Given the description of an element on the screen output the (x, y) to click on. 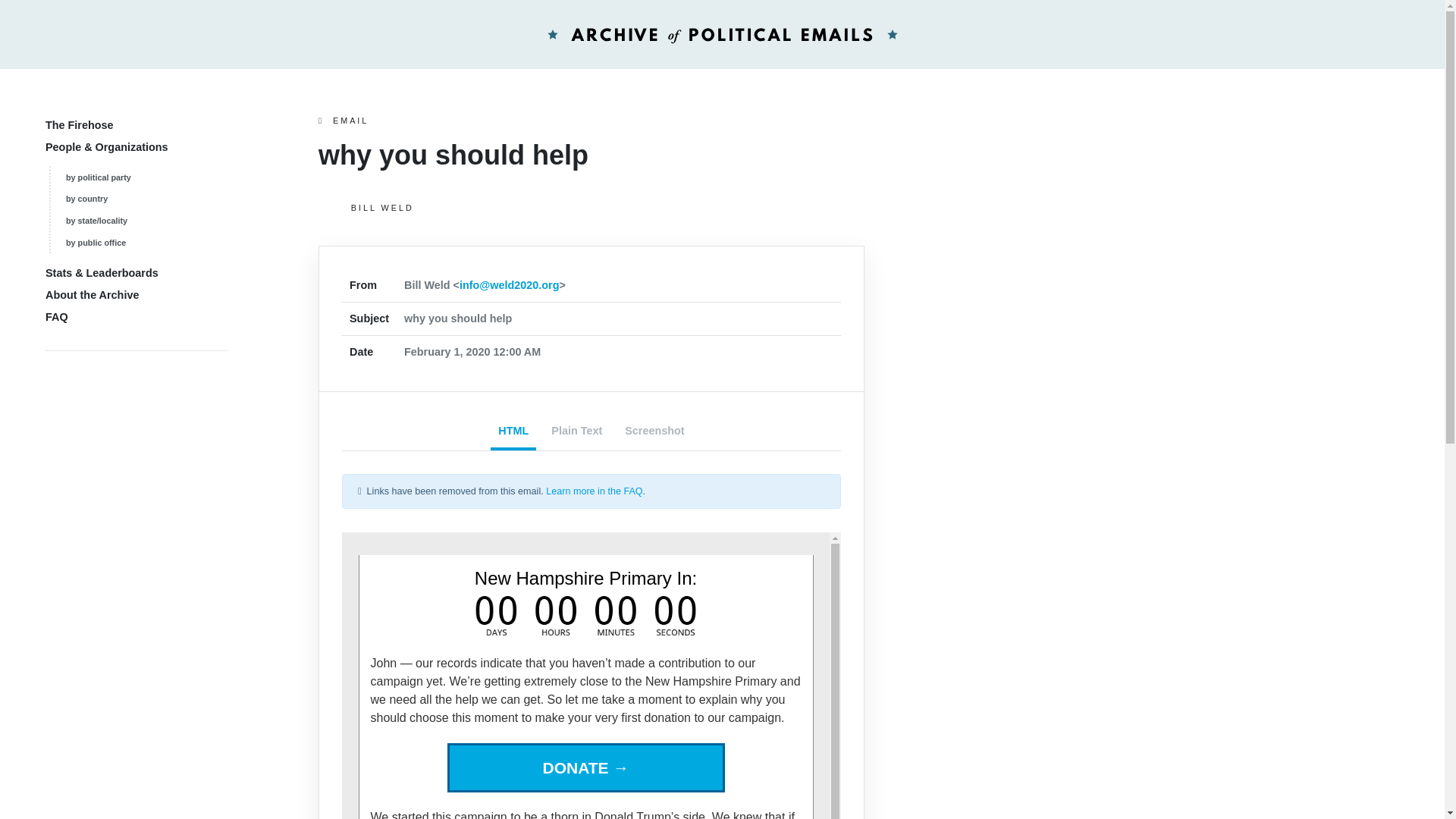
The Firehose (79, 124)
Plain Text (576, 432)
by country (86, 198)
FAQ (56, 316)
by public office (95, 242)
Learn more in the FAQ (594, 491)
About the Archive (91, 295)
HTML (512, 432)
BILL WELD (591, 207)
by political party (98, 176)
Screenshot (654, 432)
